Given the description of an element on the screen output the (x, y) to click on. 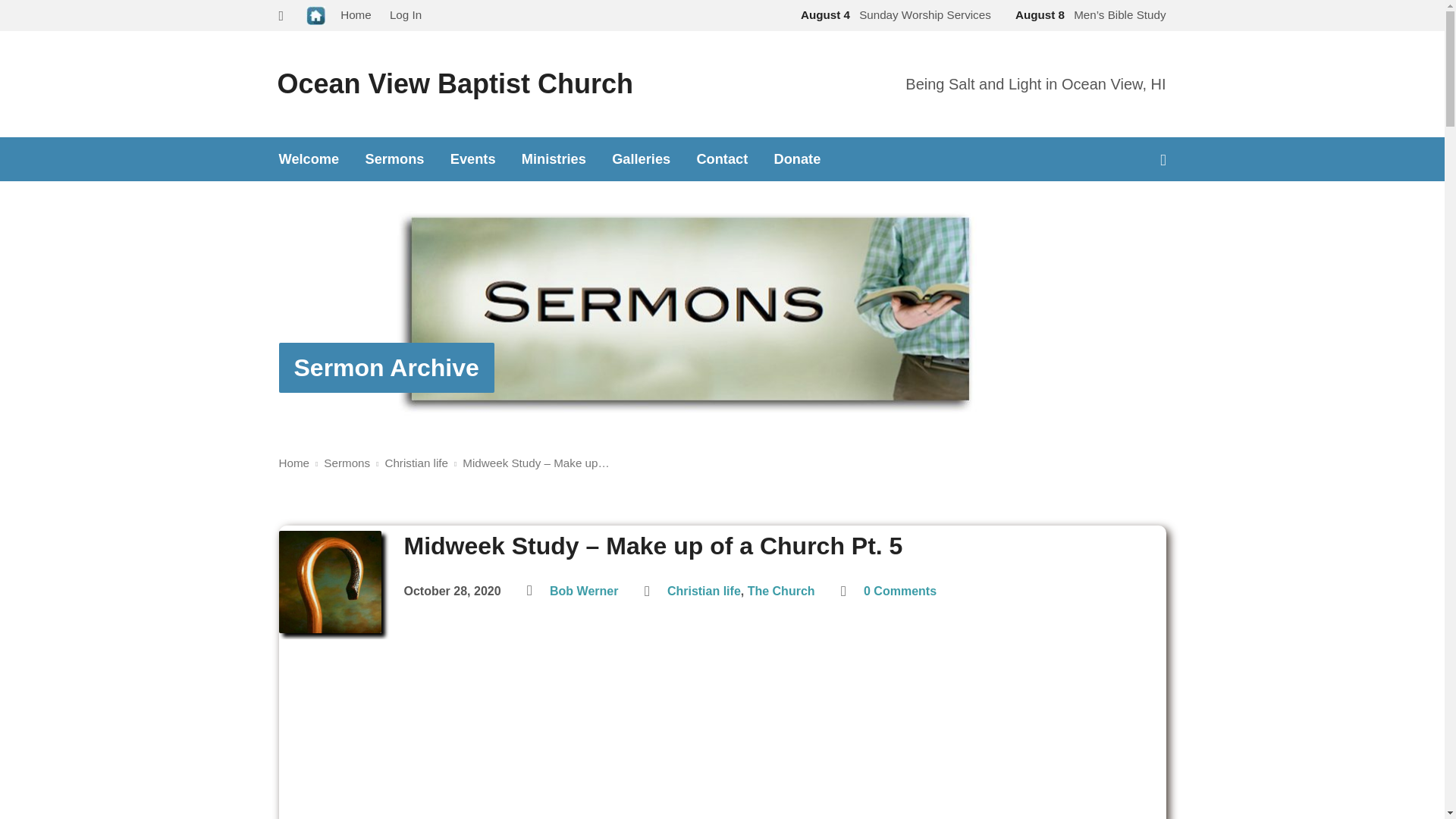
The Church (781, 590)
Log In (406, 14)
0 Comments (899, 590)
Welcome (309, 159)
Ministries (553, 159)
Ocean View Baptist Church (455, 83)
Events (472, 159)
Sunday Worship Services (892, 14)
Home (294, 462)
Galleries (640, 159)
August 4 Sunday Worship Services (892, 14)
Sermons (394, 159)
Christian life (703, 590)
Sermons (346, 462)
Sermon Archive (386, 367)
